Given the description of an element on the screen output the (x, y) to click on. 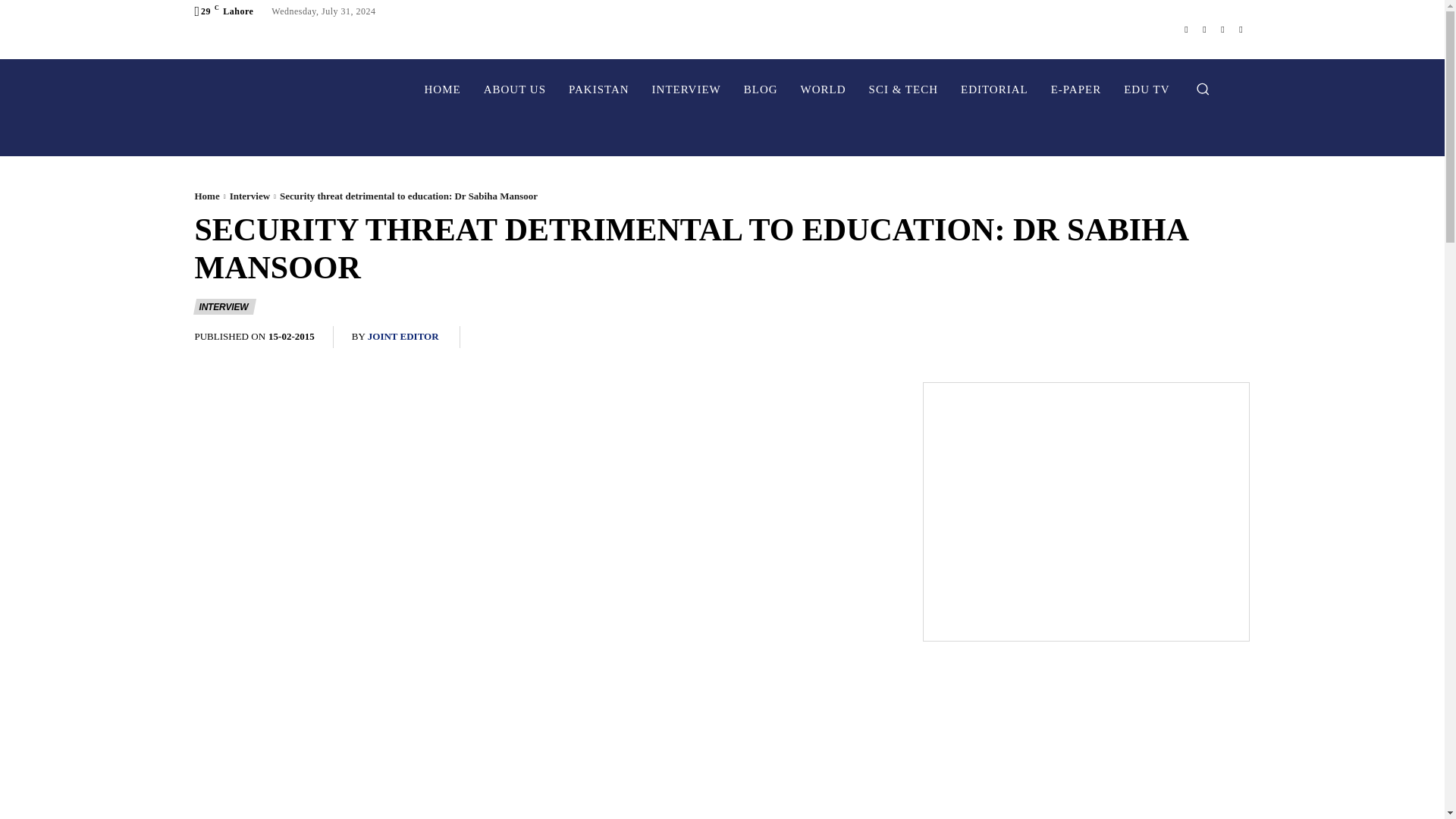
INTERVIEW (686, 89)
PAKISTAN (598, 89)
BLOG (760, 89)
RSS (1221, 29)
Youtube (1240, 29)
Instagram (1203, 29)
HOME (441, 89)
WORLD (823, 89)
ABOUT US (514, 89)
Facebook (1185, 29)
